Given the description of an element on the screen output the (x, y) to click on. 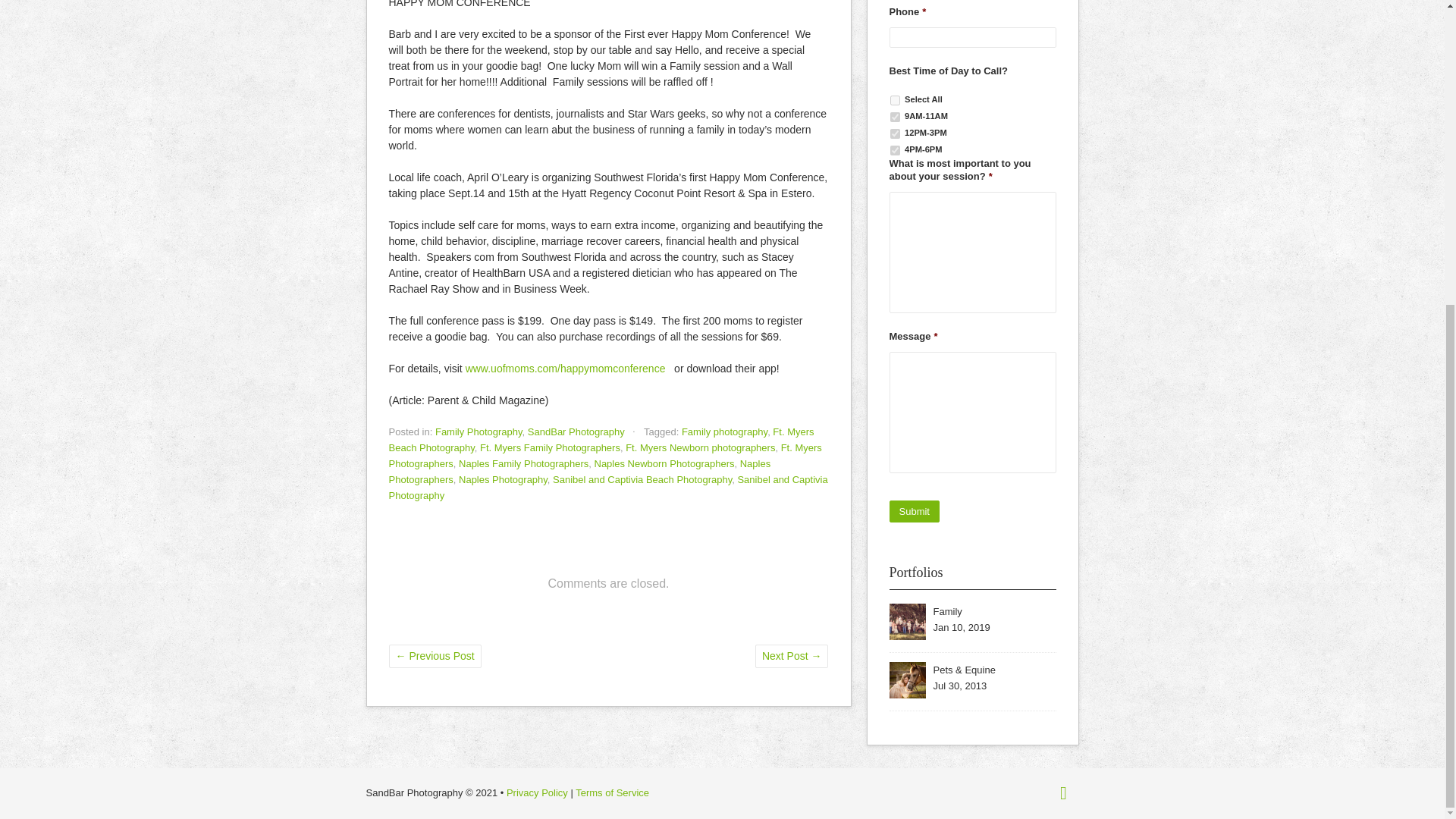
Ft. Myers Beach Photography (600, 439)
Terms of Service (612, 792)
Privacy Policy (536, 792)
Ft. Myers Family Photographers (550, 447)
Family Photography (478, 431)
Ft. Myers Photographers (604, 455)
Permalink to Family (946, 611)
Naples Newborn Photographers (664, 463)
12PM-3PM (894, 133)
on (894, 100)
Ft. Myers Newborn photographers (700, 447)
Naples Photography (502, 479)
4PM-6PM (894, 150)
9AM-11AM (894, 117)
Sanibel and Captivia Beach Photography (642, 479)
